Given the description of an element on the screen output the (x, y) to click on. 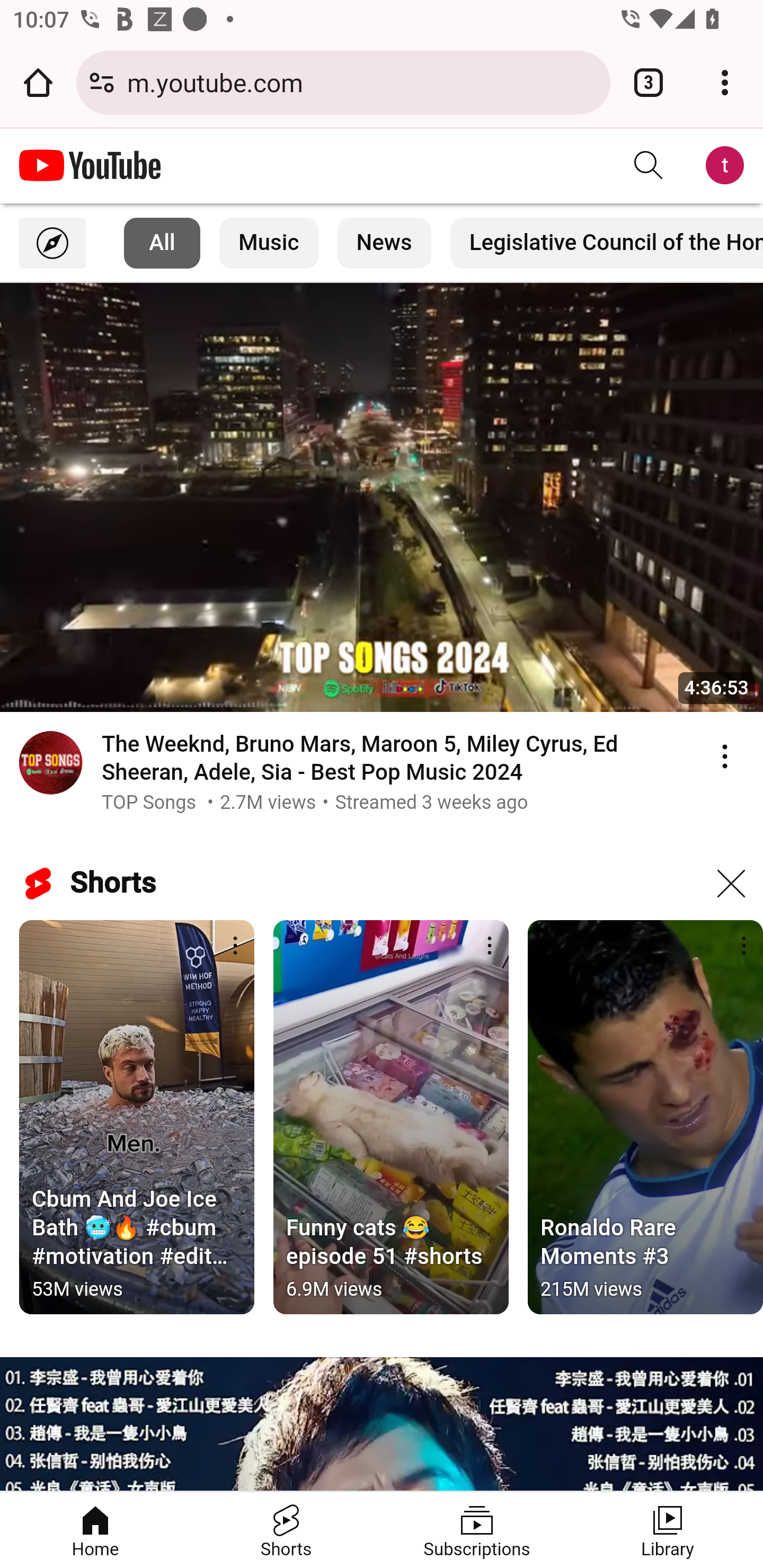
Open the home page (38, 82)
Connection is secure (101, 82)
Switch or close tabs (648, 82)
Customize and control Google Chrome (724, 82)
m.youtube.com (362, 82)
YouTube (89, 165)
Search YouTube (648, 165)
Account (724, 165)
Explore (52, 242)
All (161, 242)
Music (269, 242)
News (384, 242)
watch?v=2pDt7V9WfEE (381, 496)
Action menu (724, 756)
Go to channel (50, 764)
Not interested (731, 883)
More actions (235, 945)
More actions (489, 945)
More actions (737, 945)
Home (95, 1530)
Shorts (285, 1530)
Subscriptions (476, 1530)
Library (667, 1530)
